Given the description of an element on the screen output the (x, y) to click on. 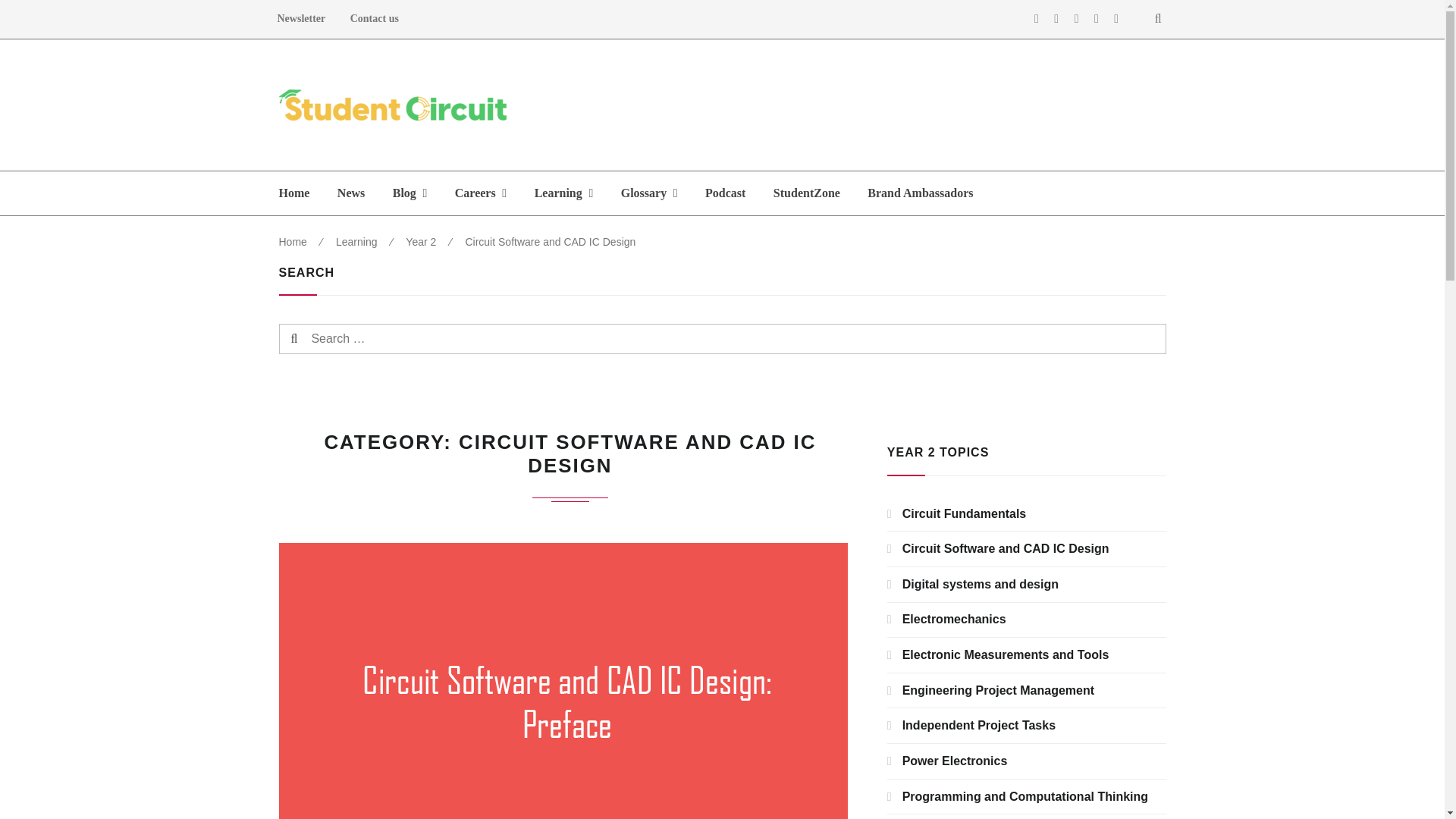
Search (321, 338)
Search (321, 338)
3rd party ad content (890, 105)
